Given the description of an element on the screen output the (x, y) to click on. 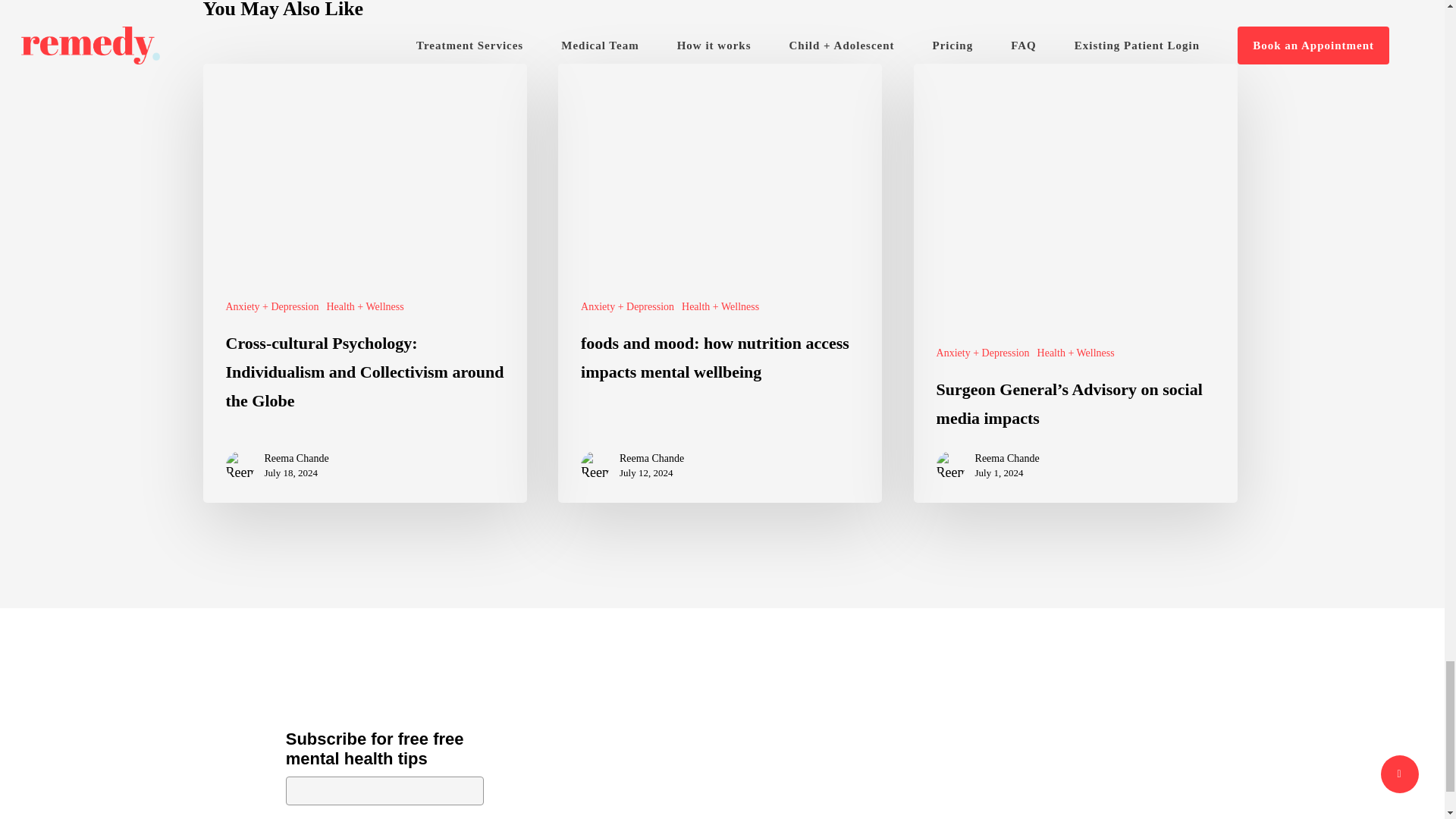
Reema Chande (652, 458)
Reema Chande (296, 458)
